Given the description of an element on the screen output the (x, y) to click on. 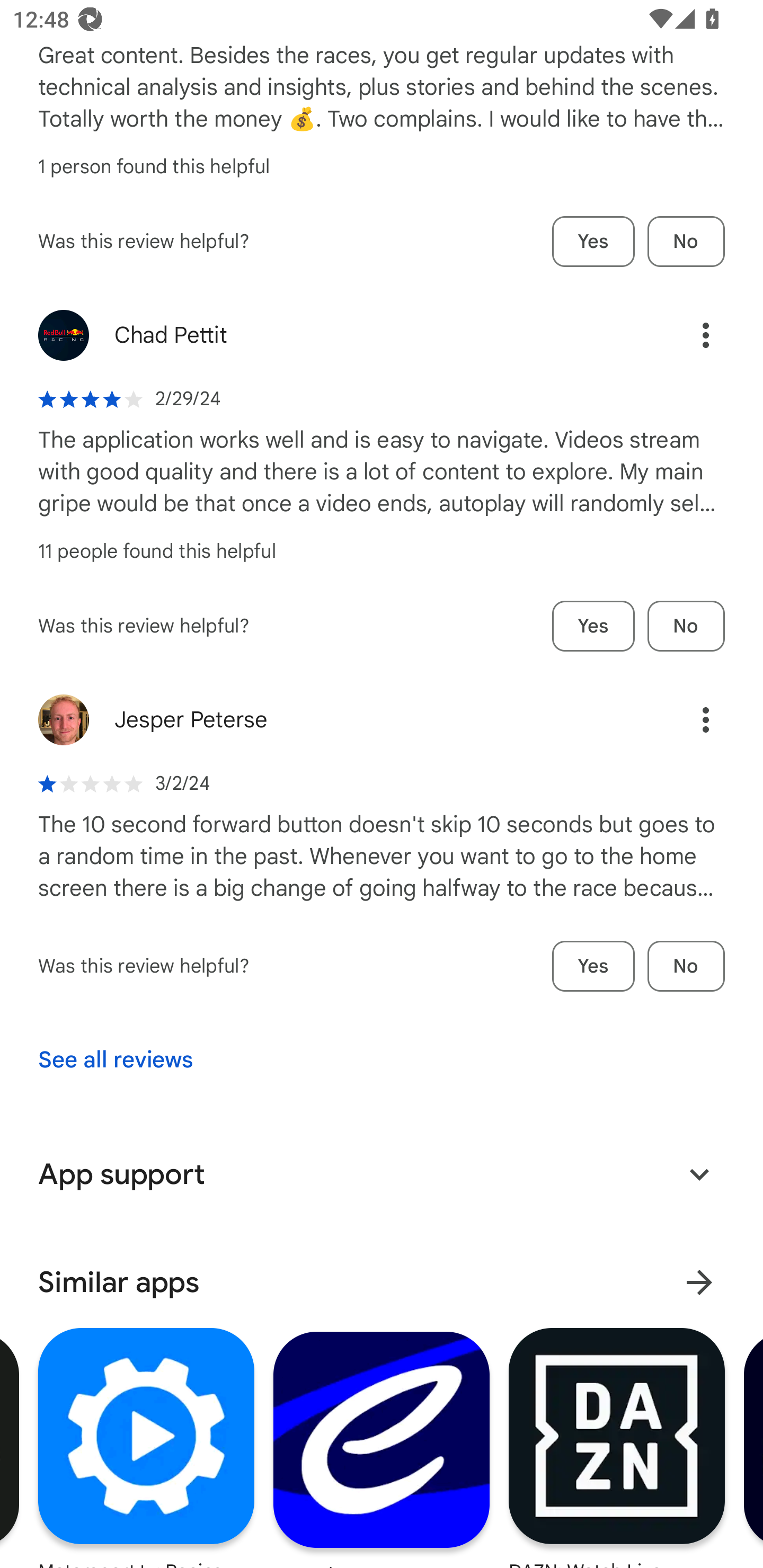
Yes (593, 241)
No (685, 241)
Options (686, 335)
Yes (593, 626)
No (685, 626)
Options (686, 719)
Yes (593, 966)
No (685, 966)
See all reviews (115, 1059)
App support Expand (381, 1174)
Expand (699, 1174)
Similar apps More results for Similar apps (381, 1282)
More results for Similar apps (699, 1282)
Motorsport.tv: Racing Videos
Star rating: 3.7
 (145, 1447)
Formula E
Star rating: 3.6
 (381, 1447)
DAZN: Watch Live Sports
Star rating: 2.8
 (616, 1447)
